Given the description of an element on the screen output the (x, y) to click on. 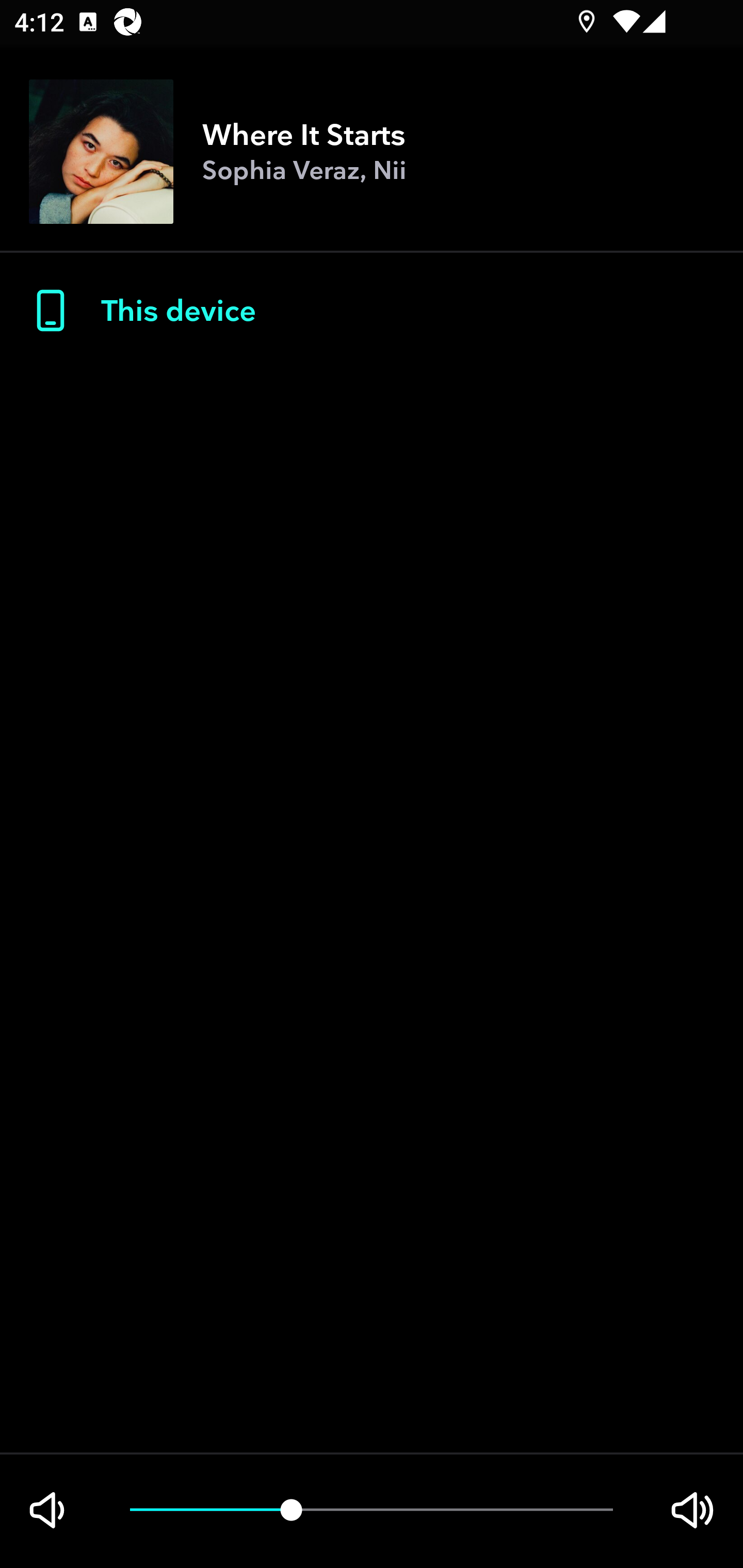
This device (371, 310)
